Given the description of an element on the screen output the (x, y) to click on. 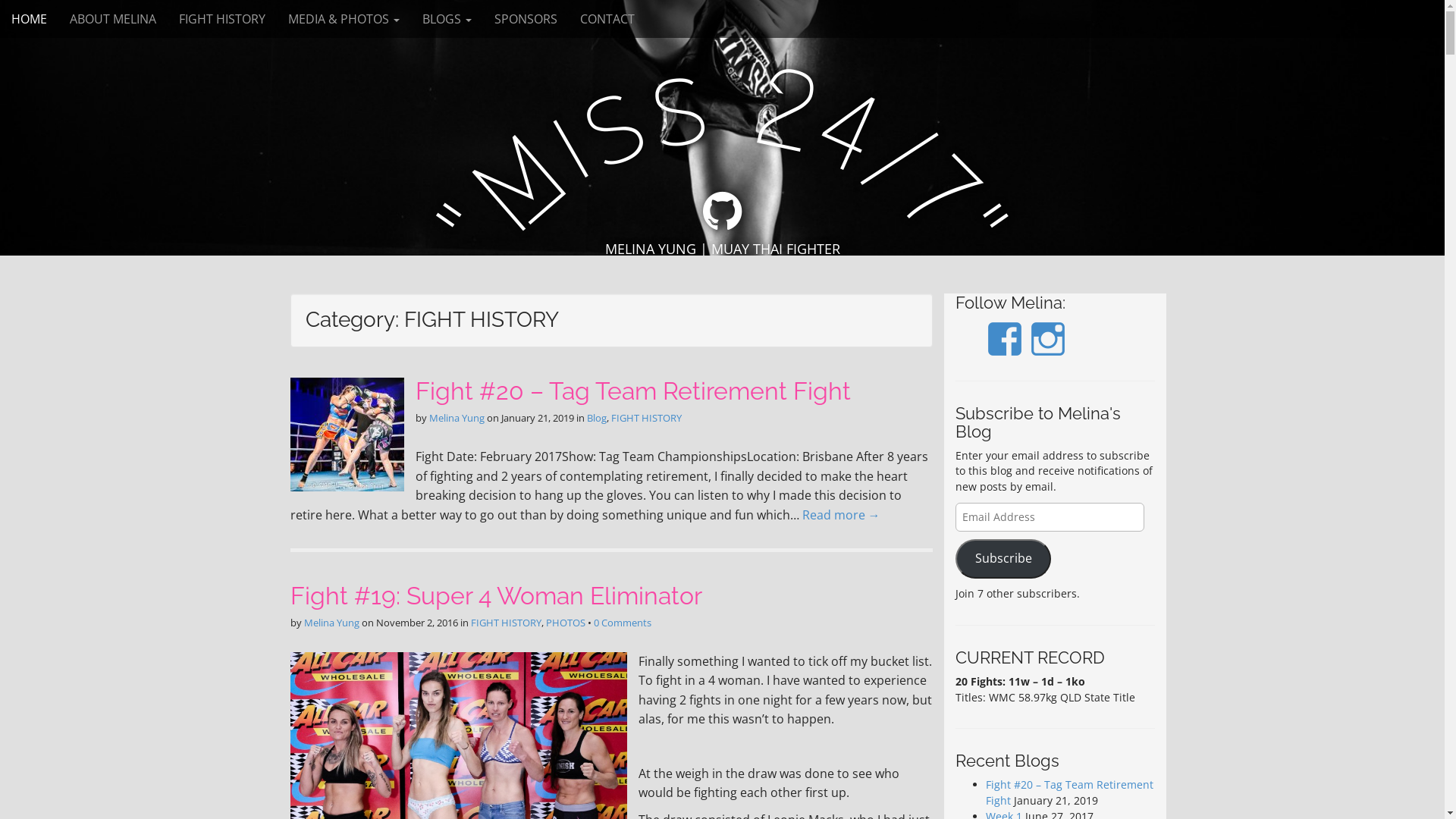
HOME Element type: text (29, 18)
Melina Yung Element type: text (330, 622)
FIGHT HISTORY Element type: text (646, 417)
MEDIA & PHOTOS Element type: text (343, 18)
"Miss 24/7" Element type: text (722, 101)
PHOTOS Element type: text (565, 622)
November 2, 2016 Element type: text (417, 622)
BLOGS Element type: text (447, 18)
Blog Element type: text (596, 417)
Fight #19: Super 4 Woman Eliminator Element type: text (495, 595)
Melina Yung Element type: text (456, 417)
FIGHT HISTORY Element type: text (221, 18)
January 21, 2019 Element type: text (536, 417)
CONTACT Element type: text (607, 18)
FIGHT HISTORY Element type: text (505, 622)
Subscribe Element type: text (1003, 559)
0 Comments Element type: text (621, 622)
SPONSORS Element type: text (525, 18)
ABOUT MELINA Element type: text (112, 18)
